Given the description of an element on the screen output the (x, y) to click on. 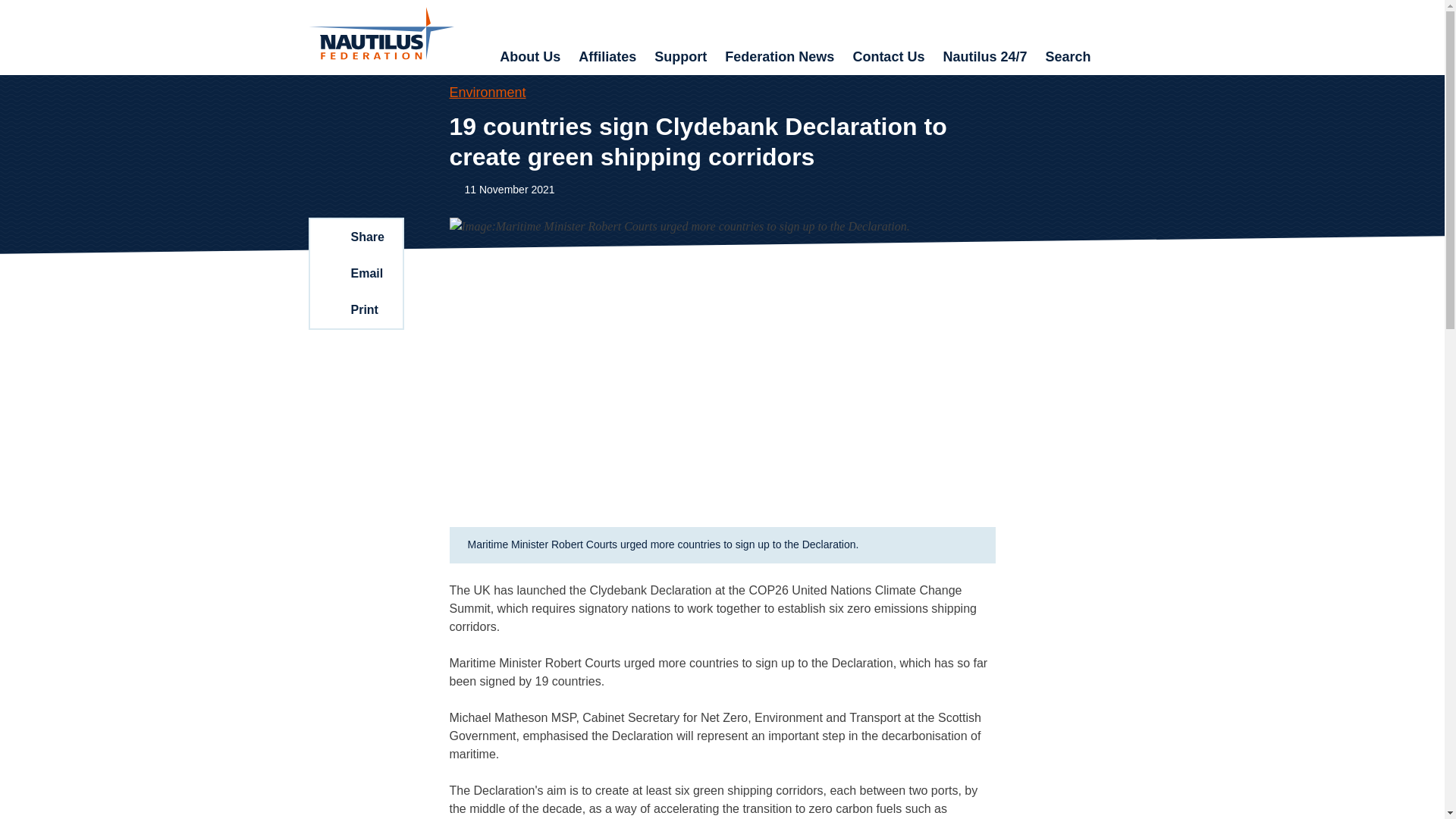
Affiliates (607, 57)
Federation News (779, 57)
About Us (529, 57)
Email (354, 273)
Print (354, 309)
Support (680, 57)
Share (354, 237)
Contact Us (888, 57)
Search (1067, 57)
Environment (486, 92)
